Given the description of an element on the screen output the (x, y) to click on. 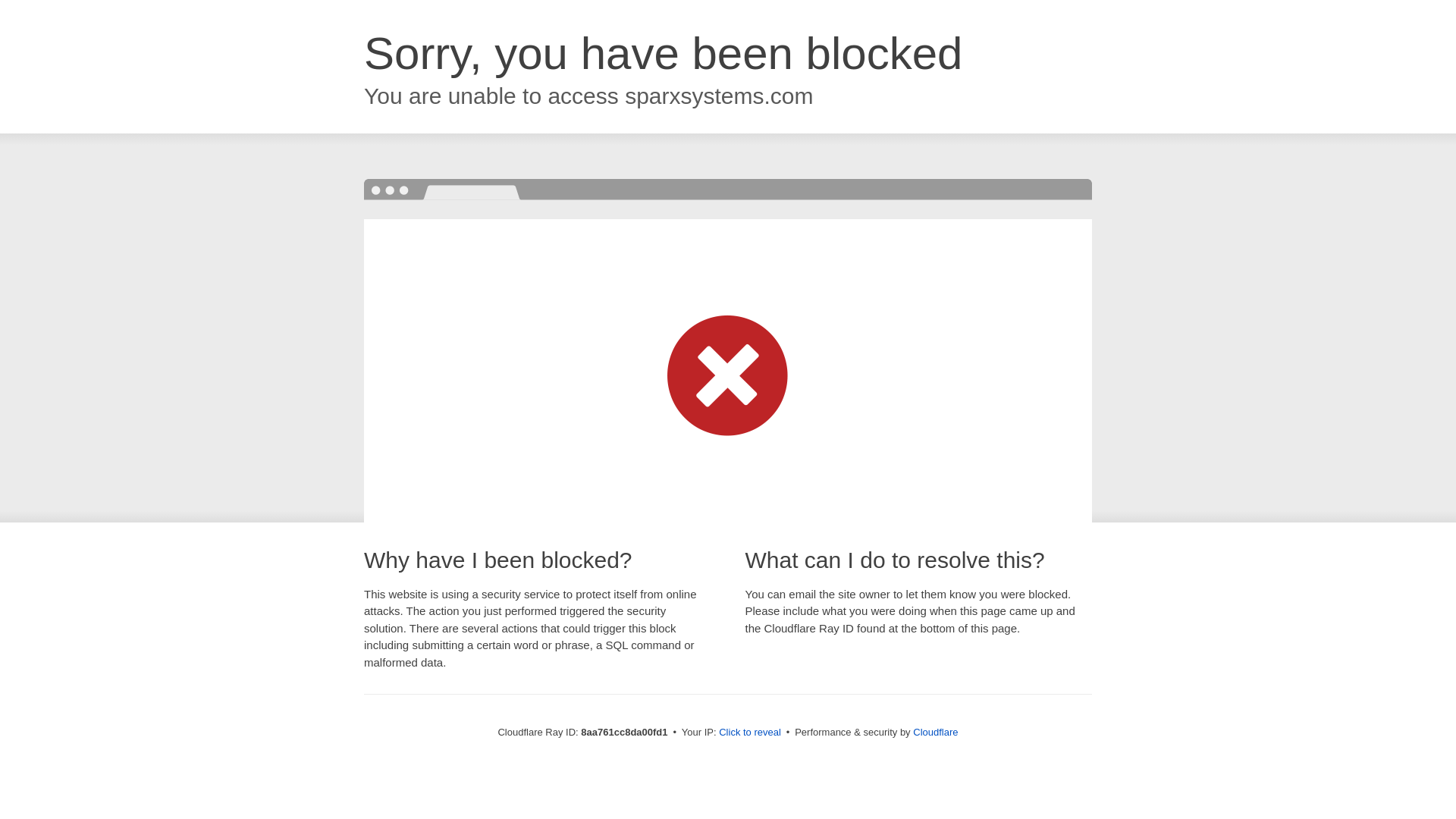
Click to reveal (749, 732)
Cloudflare (935, 731)
